Given the description of an element on the screen output the (x, y) to click on. 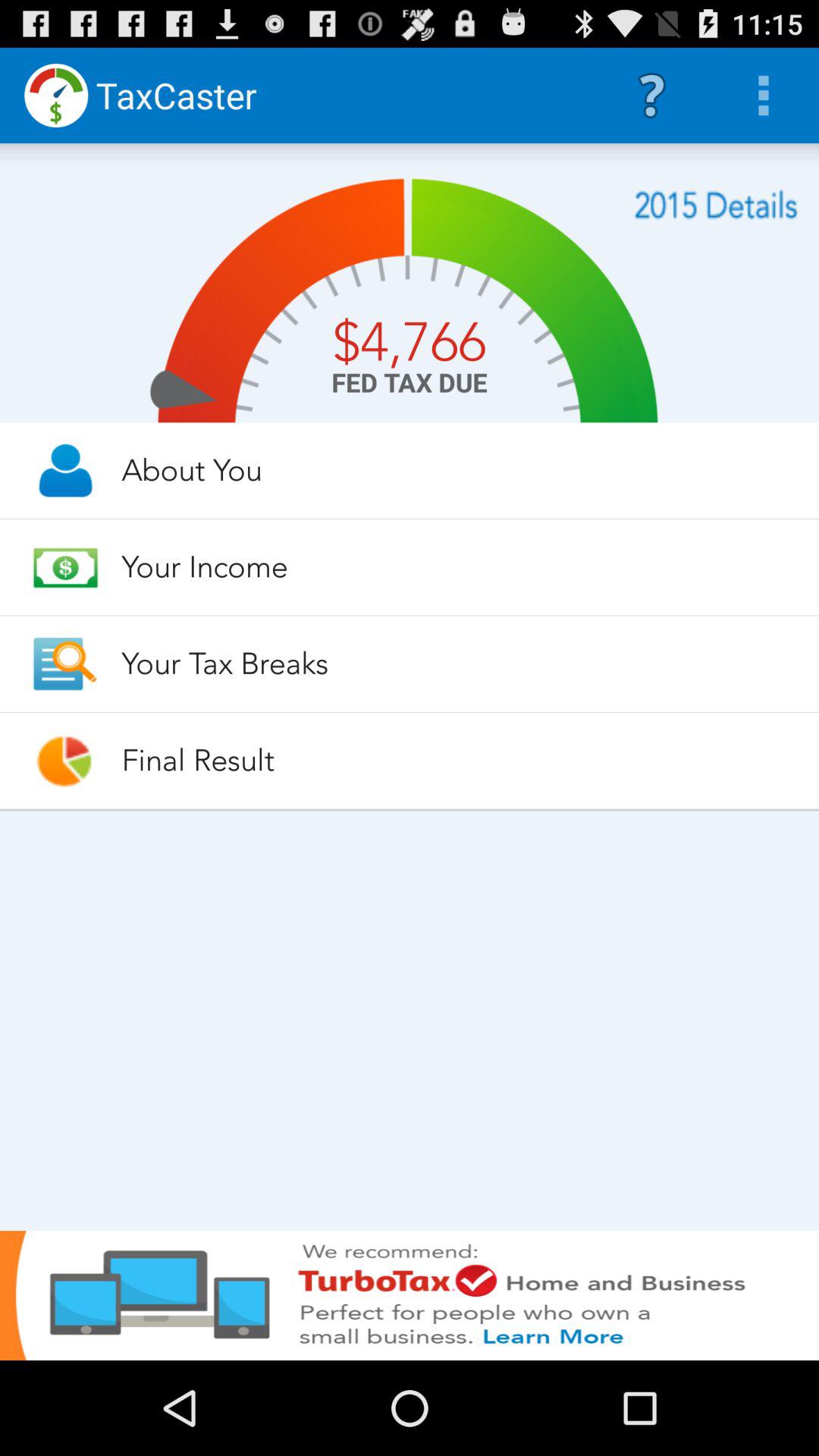
scroll to the your tax breaks app (456, 663)
